Given the description of an element on the screen output the (x, y) to click on. 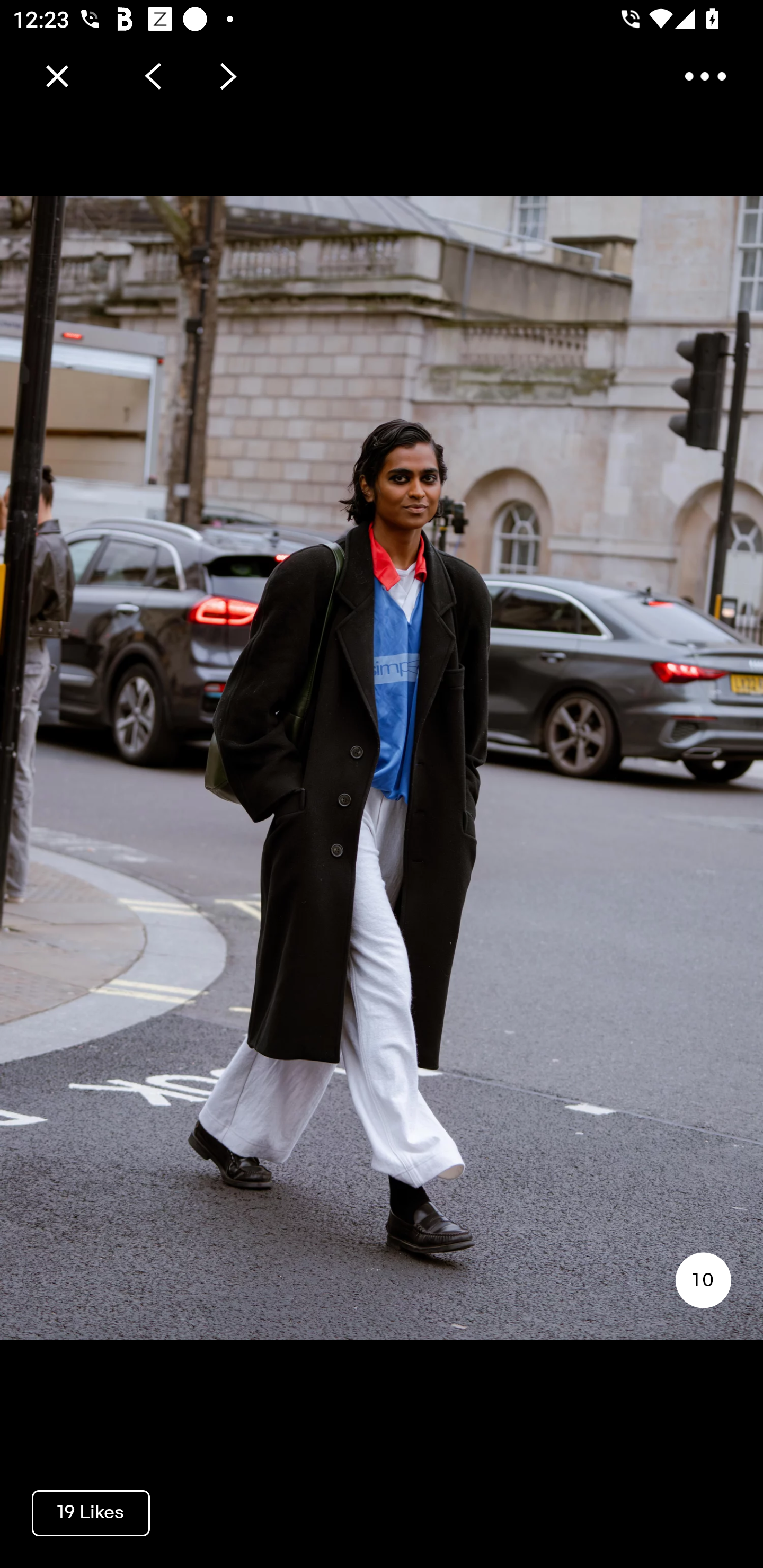
10 (702, 1279)
19 Likes (91, 1512)
